Given the description of an element on the screen output the (x, y) to click on. 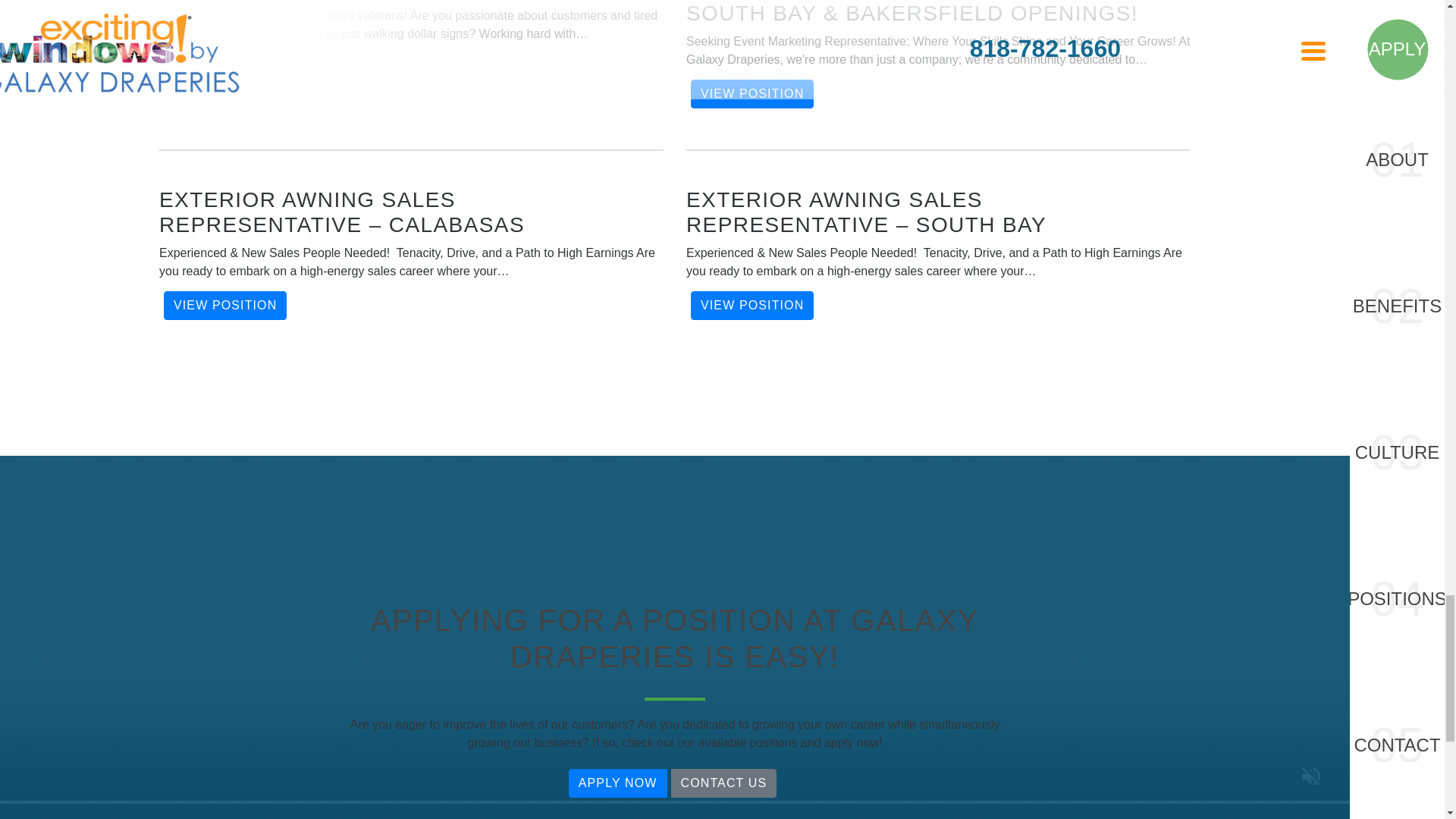
VIEW POSITION (224, 68)
APPLY NOW (617, 783)
VIEW POSITION (751, 93)
VIEW POSITION (751, 305)
CONTACT US (722, 783)
VIEW POSITION (224, 305)
